Given the description of an element on the screen output the (x, y) to click on. 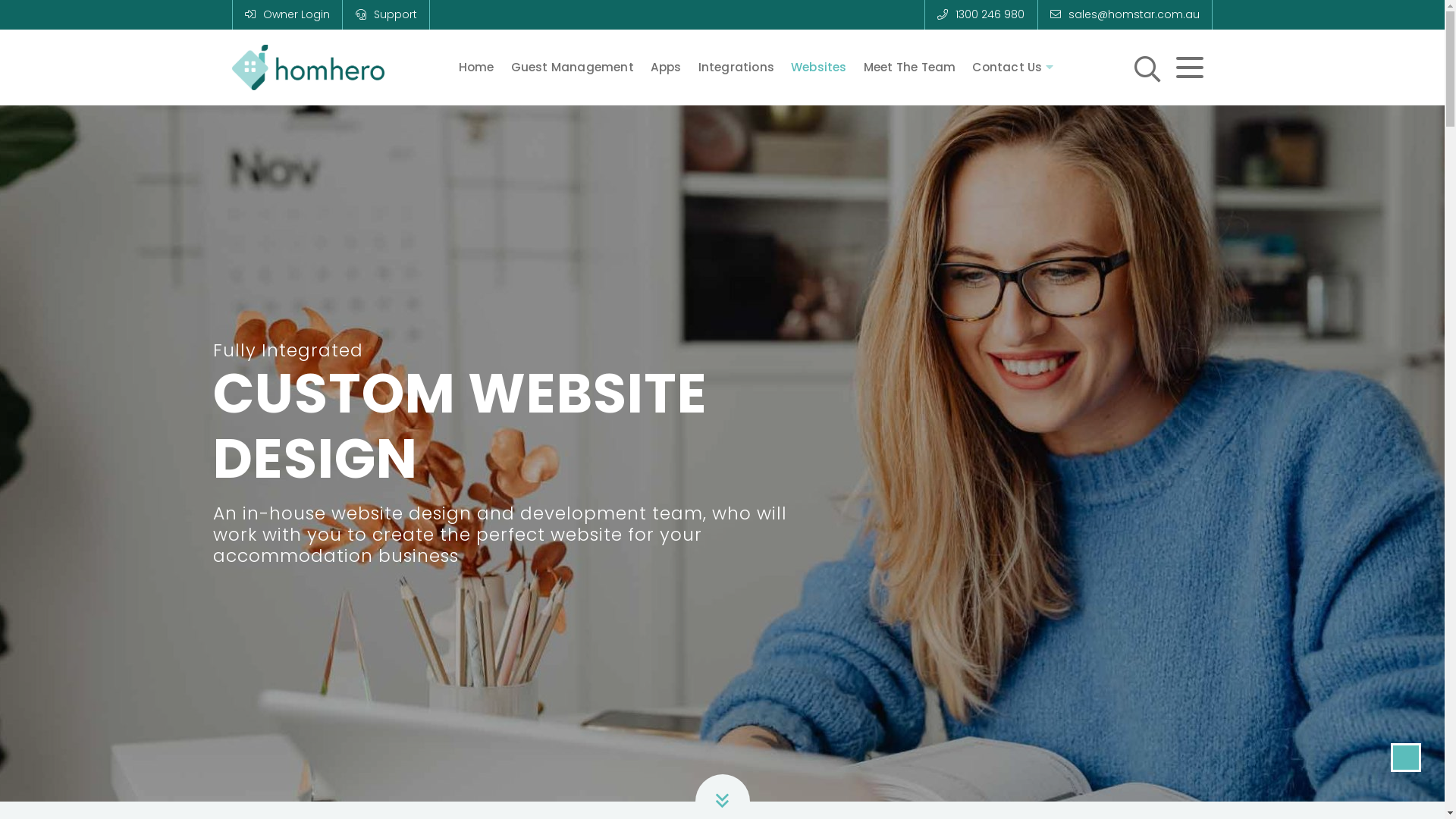
Support Element type: text (385, 14)
sales@homstar.com.au Element type: text (1124, 14)
Owner Login Element type: text (287, 14)
Contact Us Element type: text (1012, 67)
Guest Management Element type: text (572, 67)
Meet The Team Element type: text (909, 67)
Home Element type: text (476, 67)
Websites Element type: text (818, 67)
1300 246 980 Element type: text (980, 14)
Homhero Element type: text (280, 101)
Integrations Element type: text (736, 67)
Apps Element type: text (665, 67)
